Given the description of an element on the screen output the (x, y) to click on. 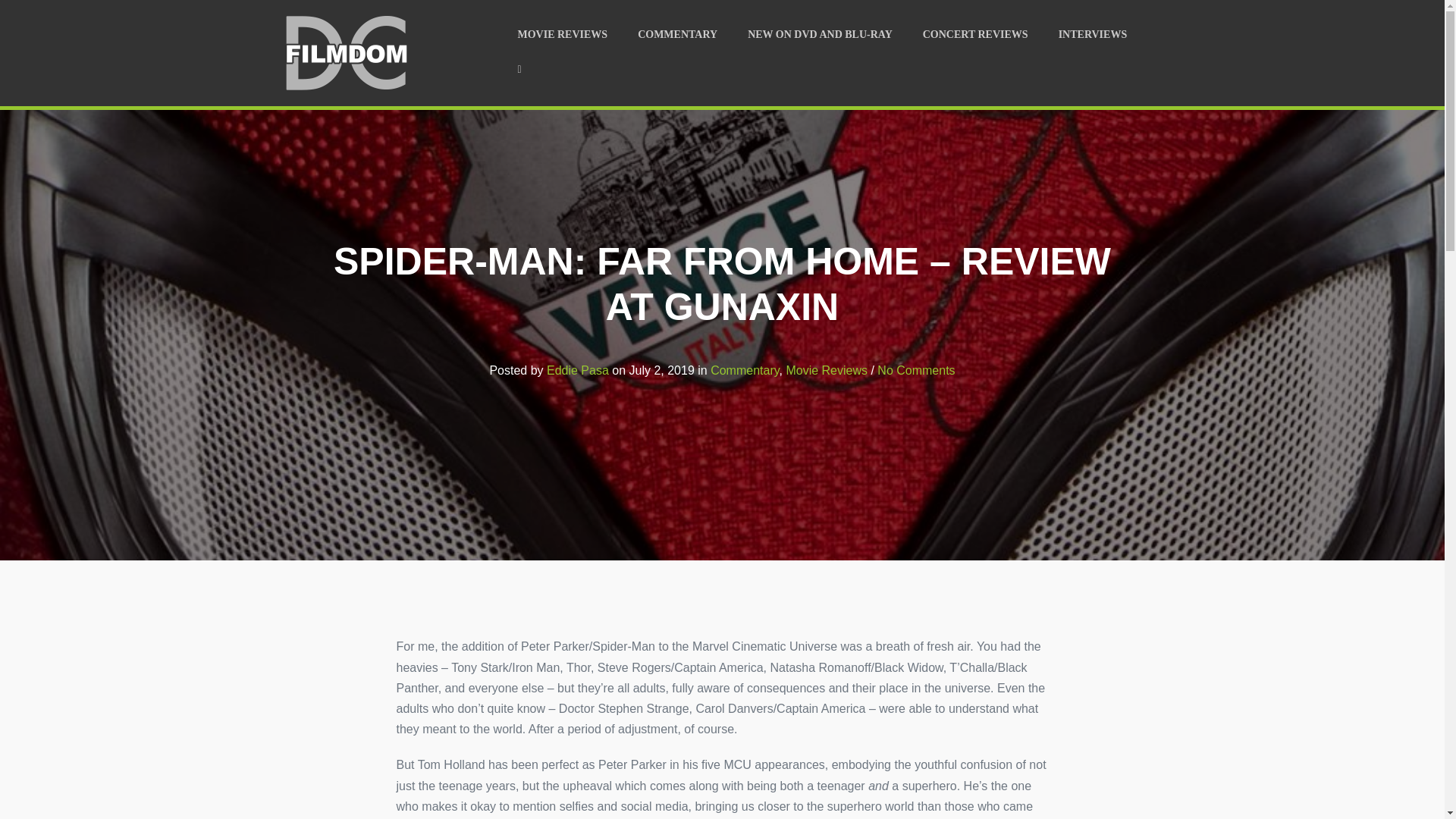
COMMENTARY (677, 35)
Movie Reviews (826, 369)
MOVIE REVIEWS (562, 35)
INTERVIEWS (1092, 35)
DC Filmdom (344, 52)
CONCERT REVIEWS (975, 35)
NEW ON DVD AND BLU-RAY (819, 35)
Eddie Pasa (577, 369)
No Comments (916, 369)
Commentary (744, 369)
SEARCH TOGGLE (518, 70)
